Given the description of an element on the screen output the (x, y) to click on. 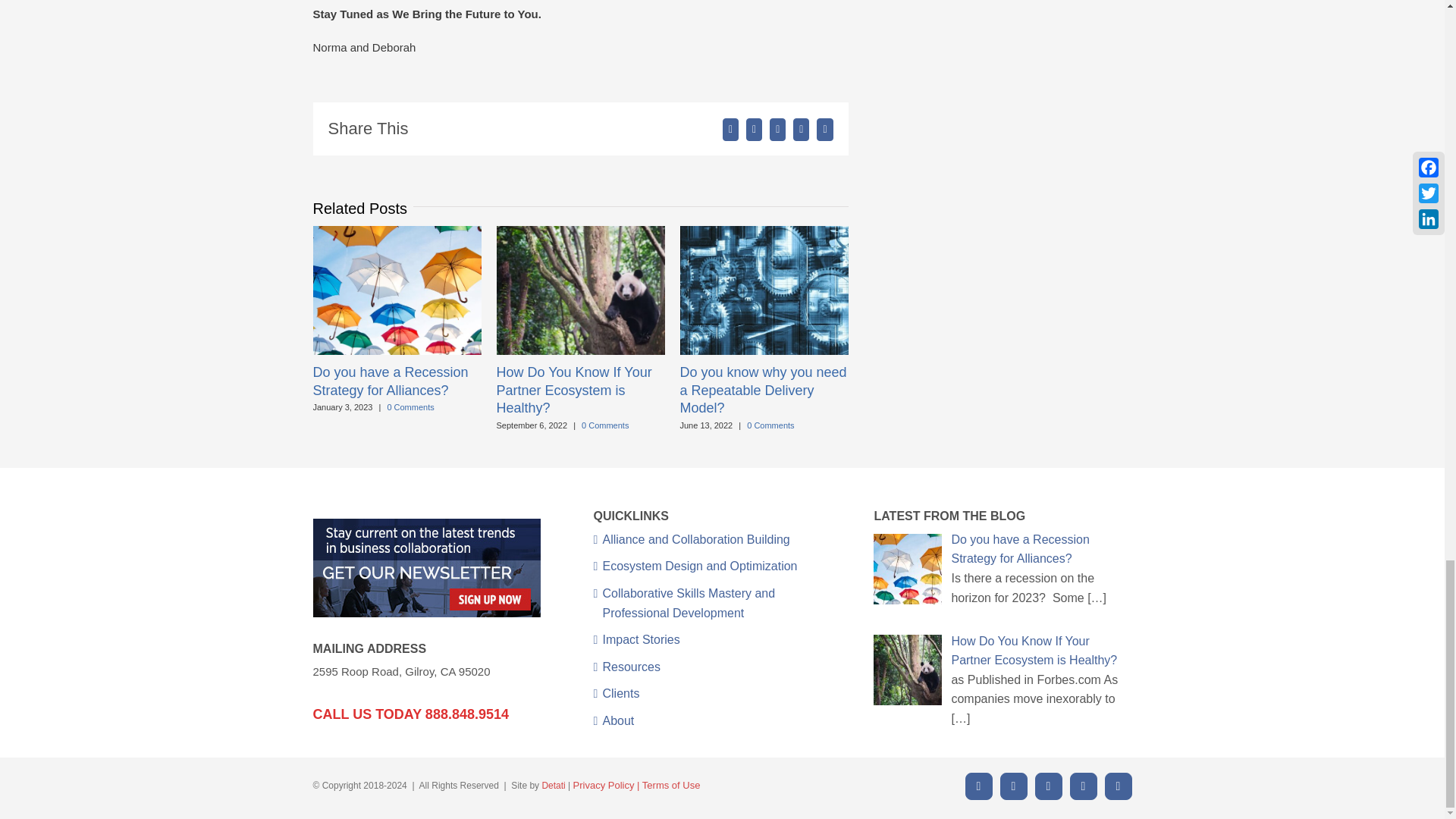
Do you know why you need a Repeatable Delivery Model? (762, 389)
X (1012, 786)
LinkedIn (1047, 786)
Facebook (977, 786)
Do you have a Recession Strategy for Alliances? (390, 380)
YouTube (1082, 786)
How Do You Know If Your Partner Ecosystem is Healthy? (573, 389)
